Given the description of an element on the screen output the (x, y) to click on. 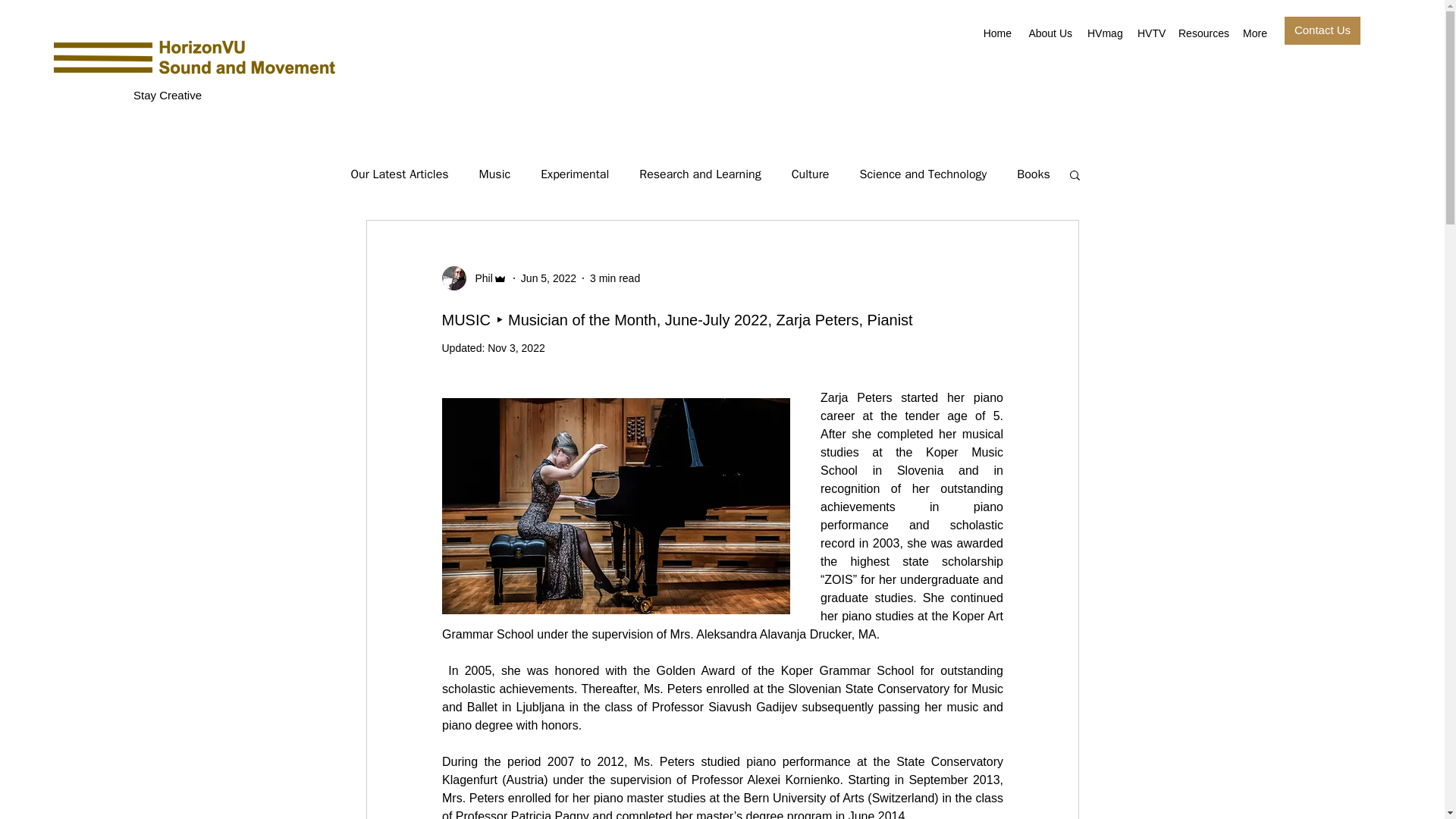
Culture (810, 174)
HVTV (1149, 33)
Resources (1202, 33)
HVmag (1104, 33)
Books (1032, 174)
Phil (478, 277)
Jun 5, 2022 (548, 277)
Science and Technology (923, 174)
Nov 3, 2022 (515, 347)
3 min read (614, 277)
